Given the description of an element on the screen output the (x, y) to click on. 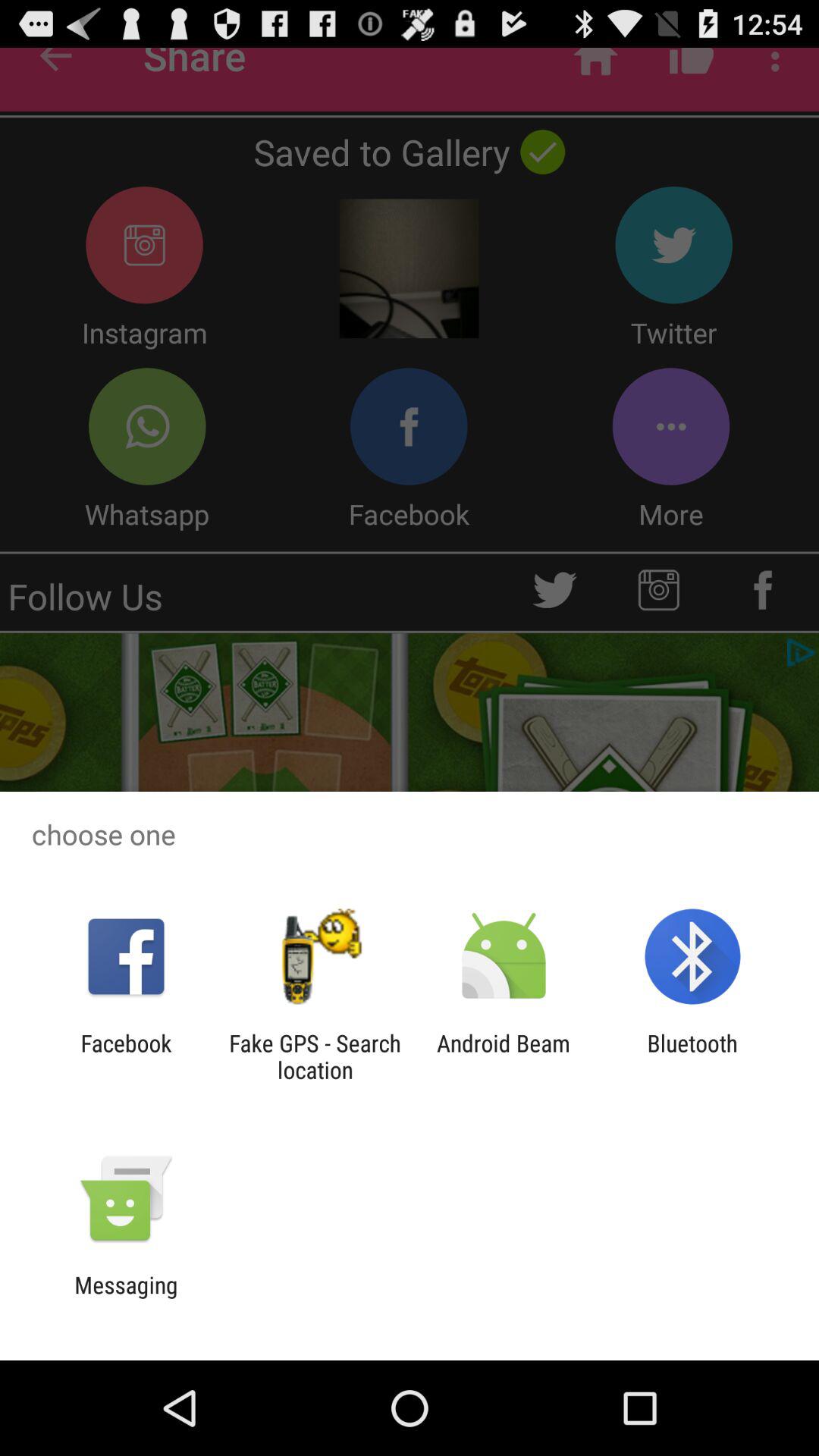
tap the icon next to the bluetooth icon (503, 1056)
